Given the description of an element on the screen output the (x, y) to click on. 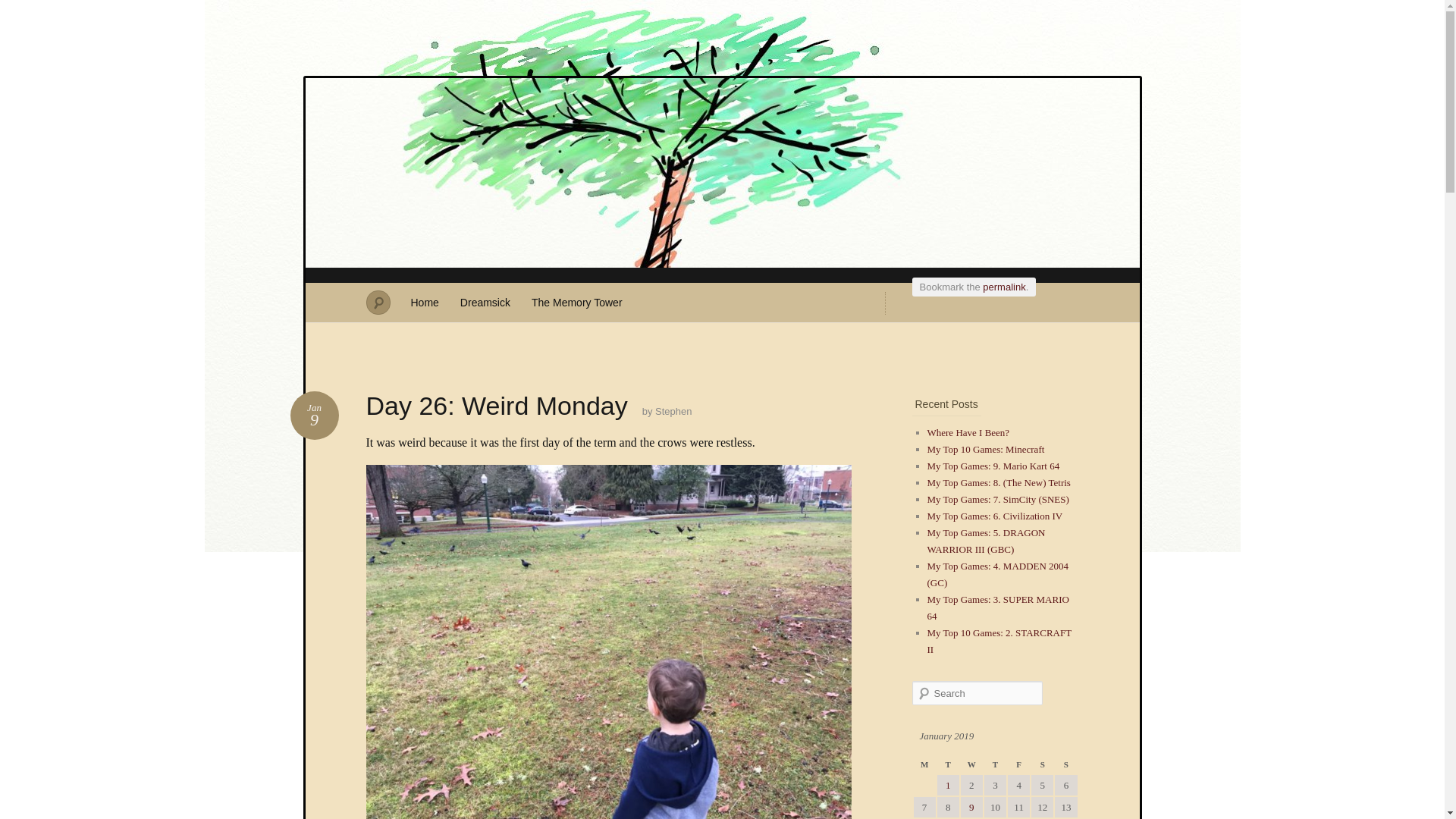
Dreamsick (485, 301)
My Top Games: 6. Civilization IV (994, 515)
Permalink to Day 26: Weird Monday (1003, 286)
Home (424, 301)
Search (21, 7)
View all posts by Stephen (673, 410)
Wednesday (971, 764)
My Top Games: 9. Mario Kart 64 (992, 465)
Sunday (1065, 764)
permalink (1003, 286)
Thursday (995, 764)
My Top Games: 3. SUPER MARIO 64 (997, 607)
The Memory Tower (577, 301)
Saturday (1041, 764)
